Given the description of an element on the screen output the (x, y) to click on. 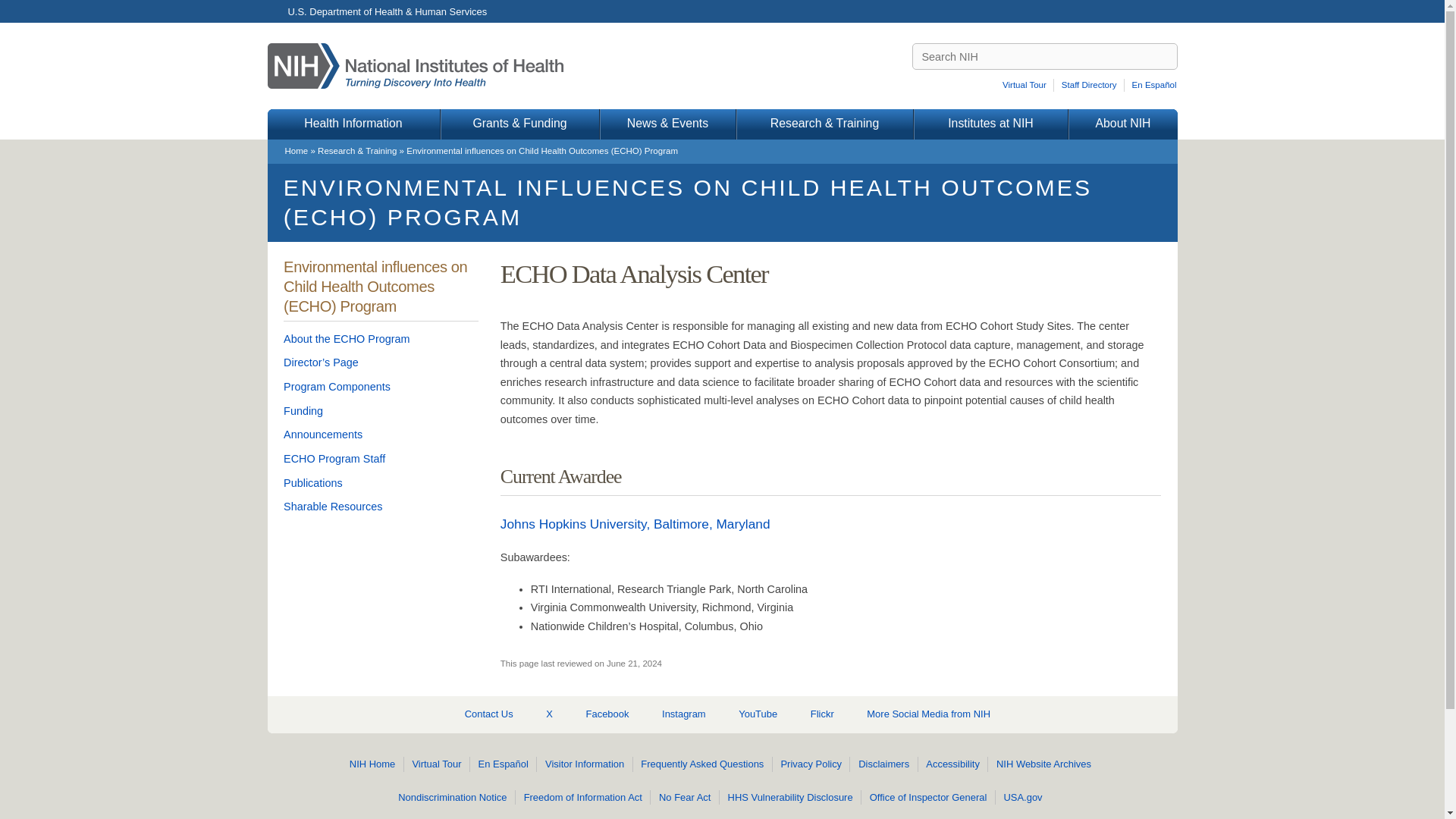
Search (1164, 56)
Search (1164, 56)
Health Information (352, 123)
Search (1164, 56)
Staff Directory (1091, 84)
Virtual Tour (1026, 84)
